Given the description of an element on the screen output the (x, y) to click on. 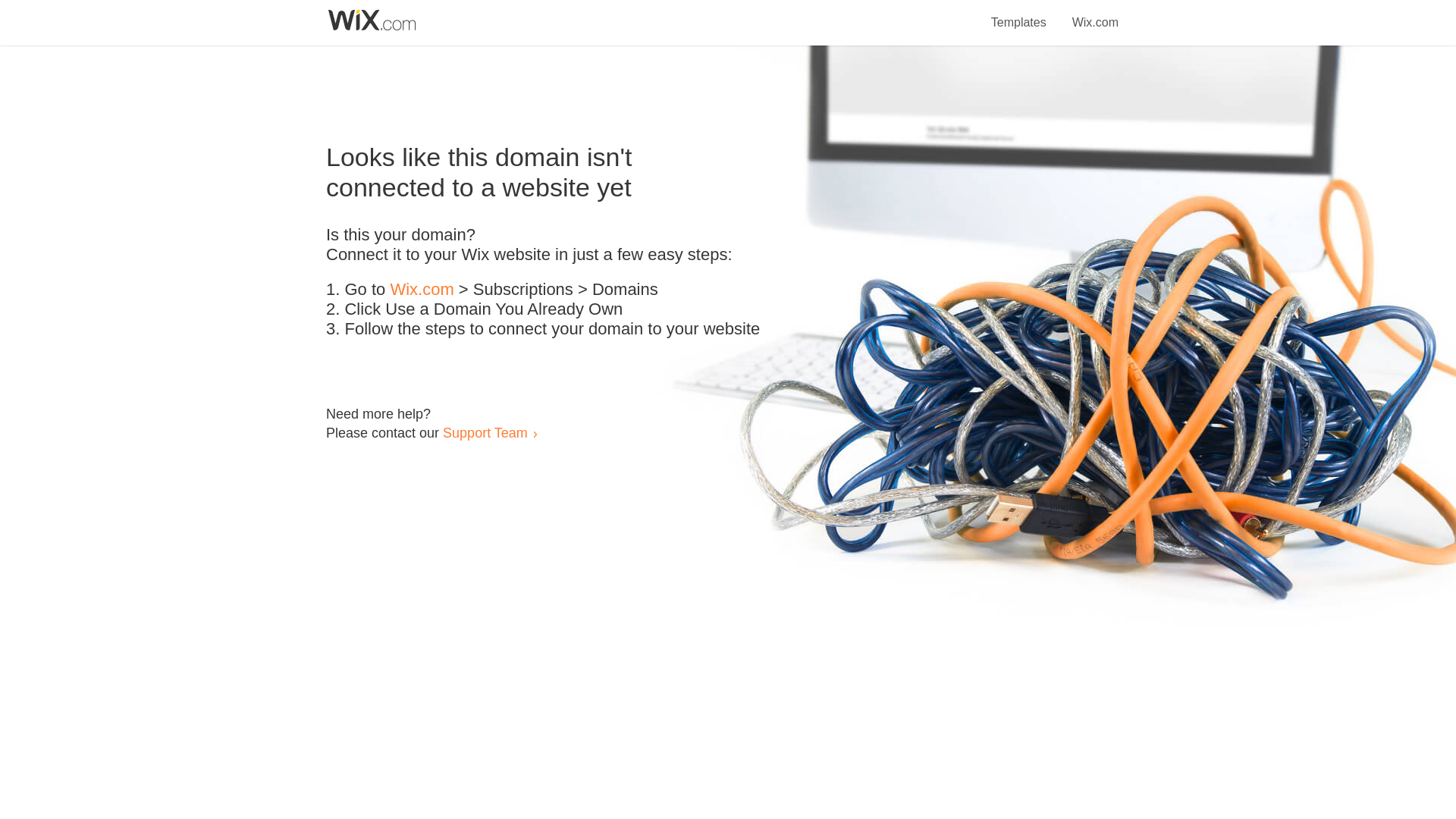
Wix.com (1095, 14)
Support Team (484, 432)
Templates (1018, 14)
Wix.com (421, 289)
